Given the description of an element on the screen output the (x, y) to click on. 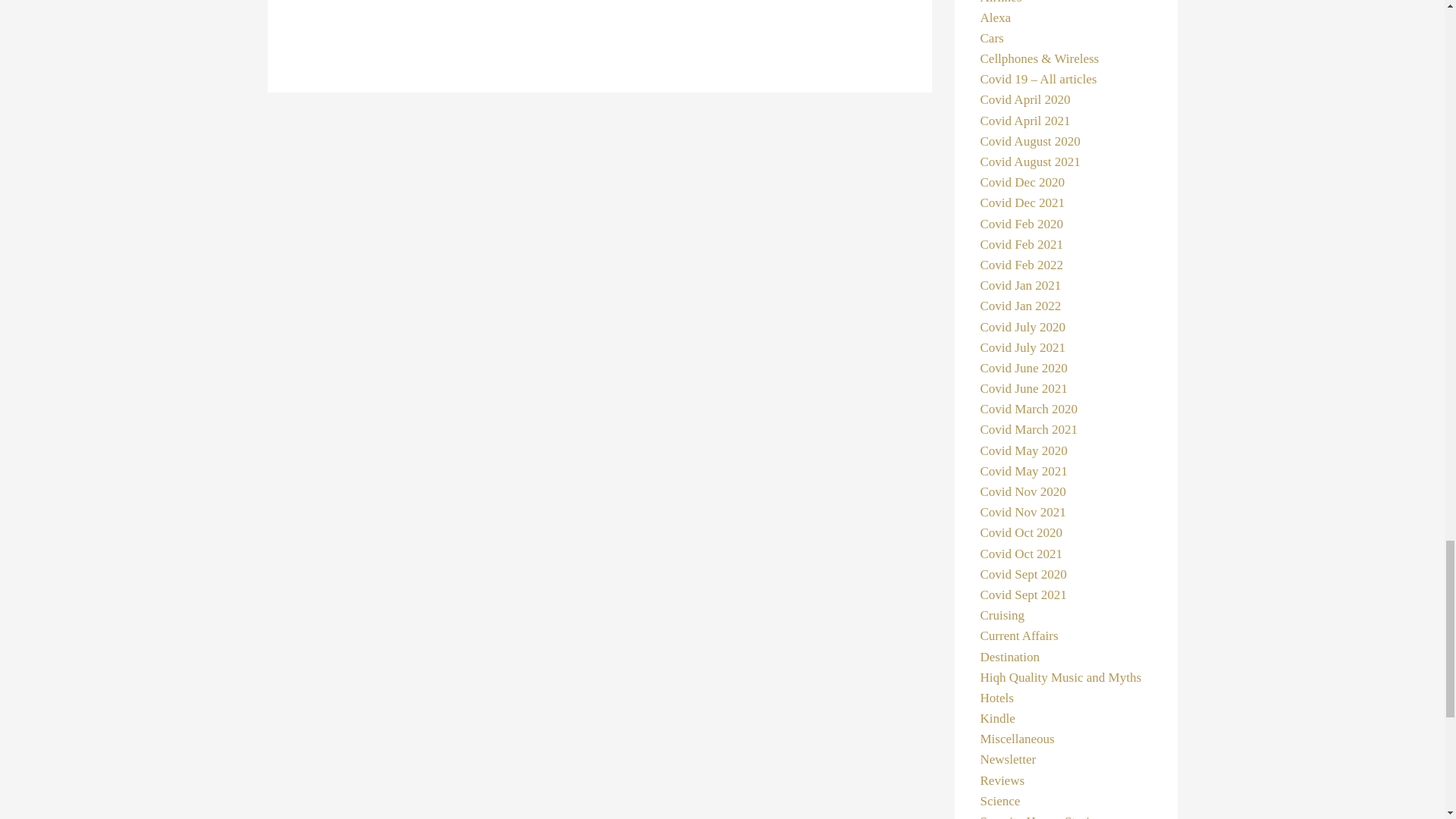
Comment Form (599, 17)
